Given the description of an element on the screen output the (x, y) to click on. 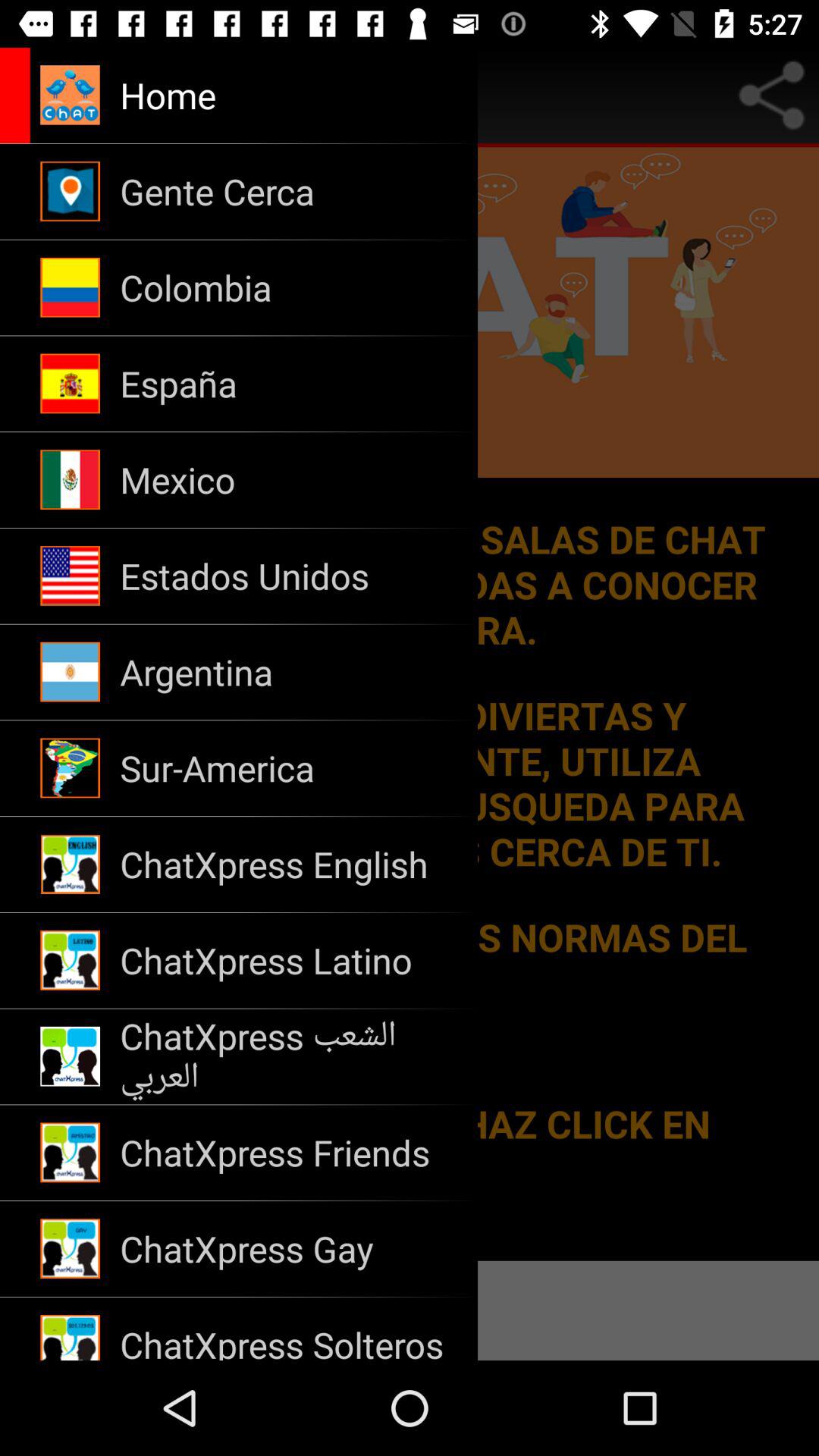
select country (409, 703)
